Given the description of an element on the screen output the (x, y) to click on. 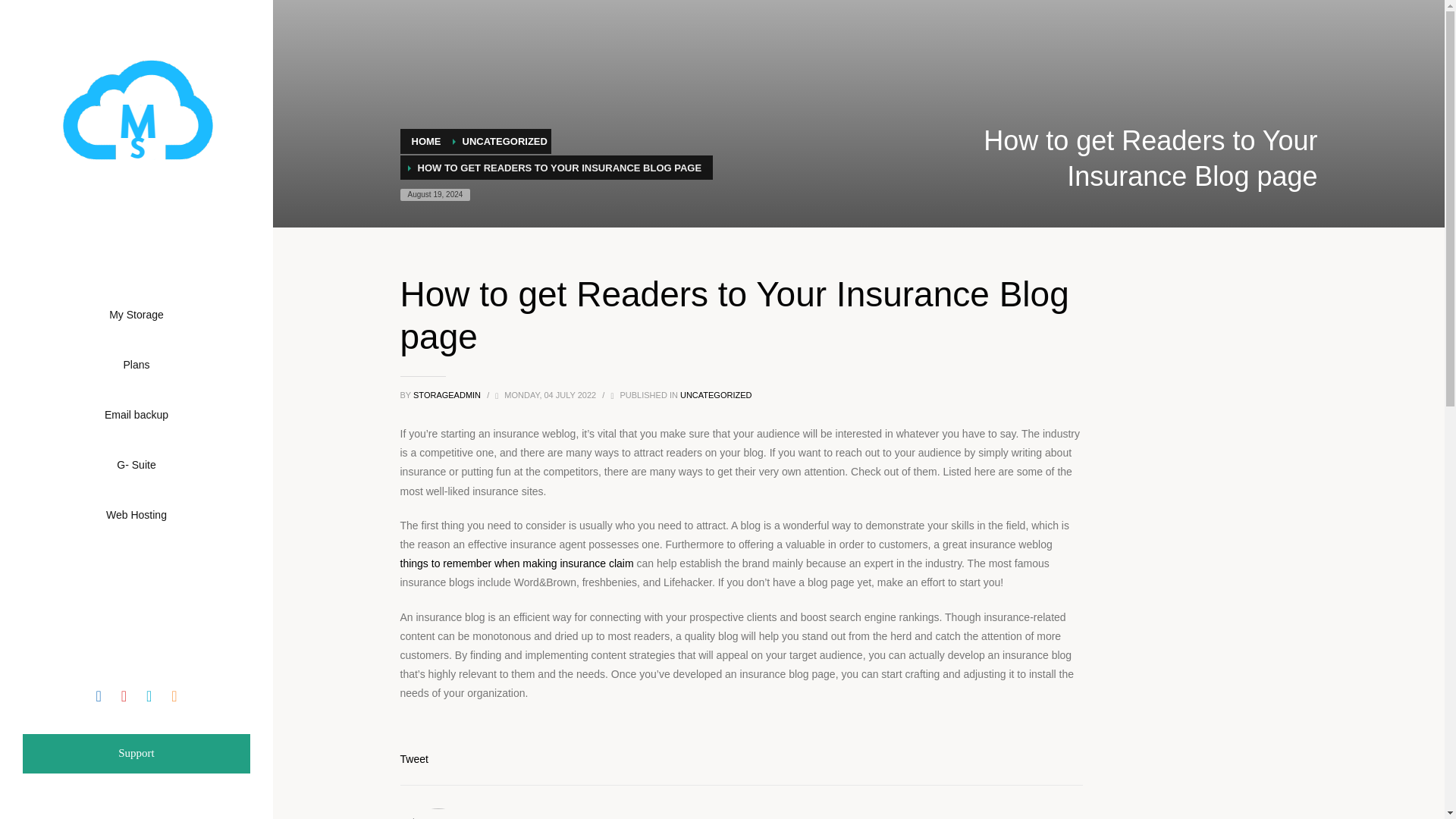
Web Hosting (136, 513)
UNCATEGORIZED (505, 141)
Support (136, 753)
STORAGEADMIN (448, 394)
My Storage (136, 314)
Your Personal Backup Space (135, 109)
G- Suite (136, 463)
Tweet (136, 413)
Plans (414, 758)
